Given the description of an element on the screen output the (x, y) to click on. 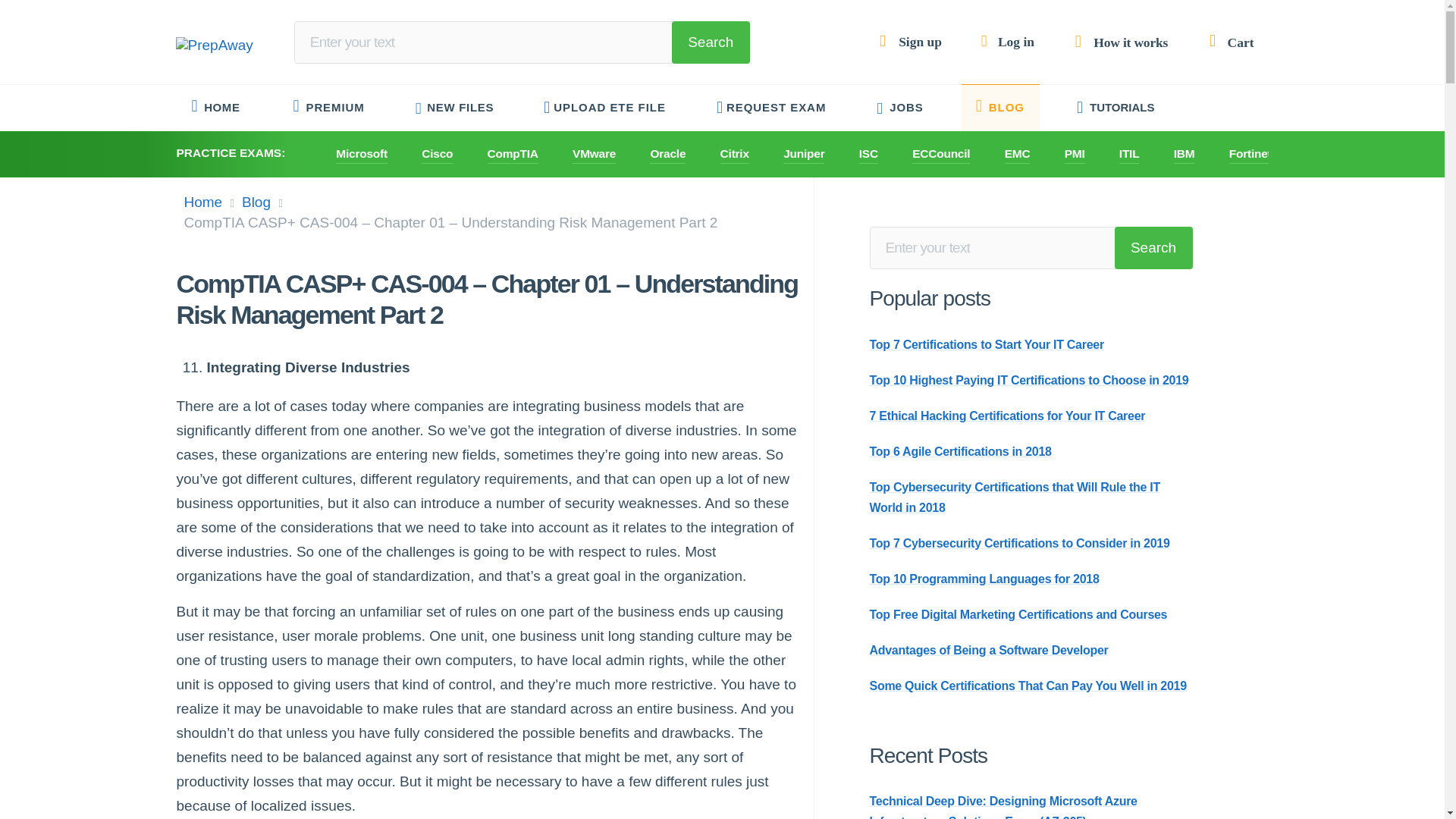
TUTORIALS (1116, 107)
VMware (593, 153)
UPLOAD ETE FILE (606, 107)
Fortinet (1249, 153)
Sign up (909, 41)
ECCouncil (940, 153)
Juniper (803, 153)
PREMIUM (329, 107)
Search (1153, 247)
How it works (1119, 41)
